Given the description of an element on the screen output the (x, y) to click on. 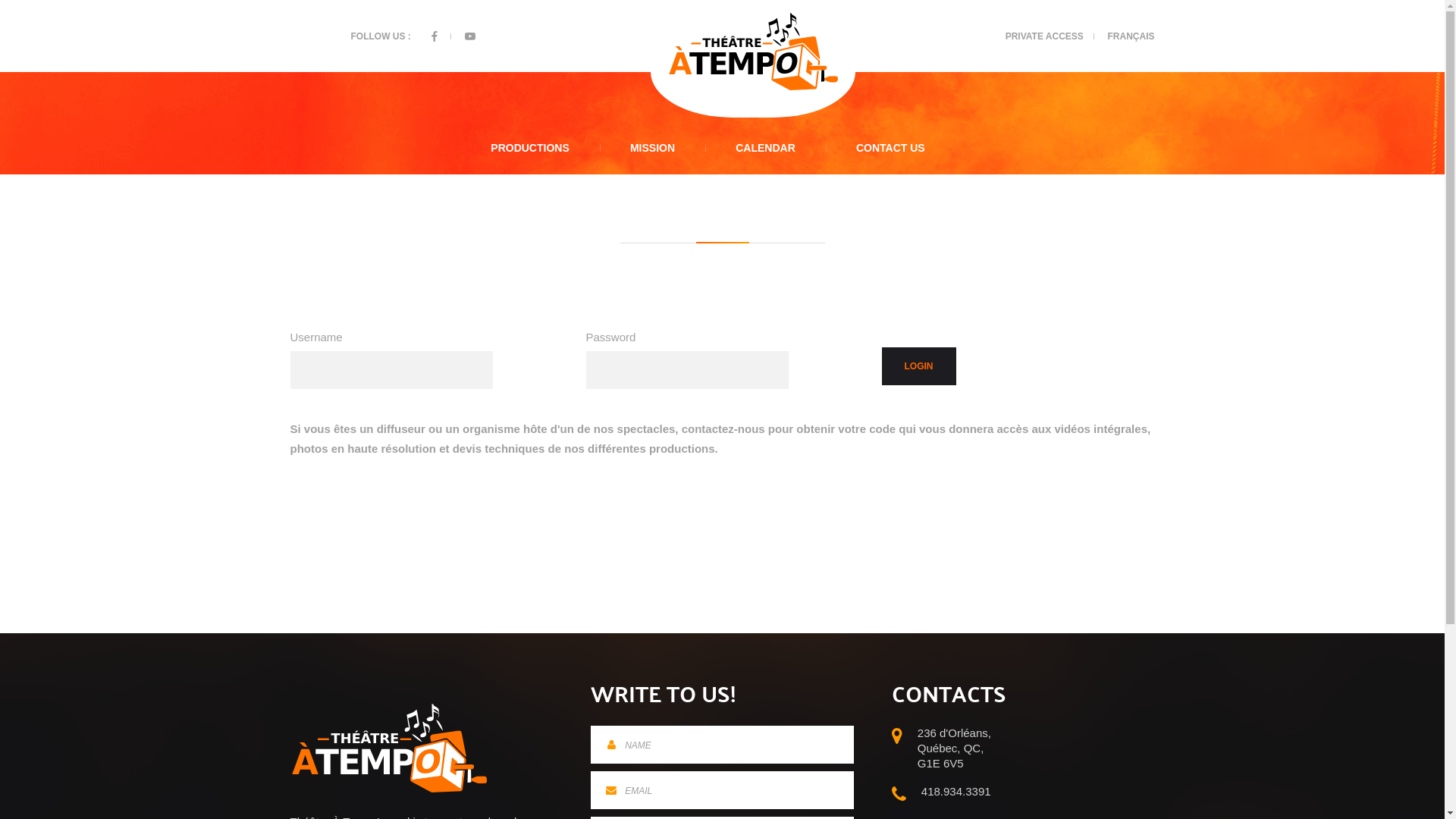
CALENDAR Element type: text (765, 147)
CONTACT US Element type: text (890, 147)
PRIVATE ACCESS Element type: text (1044, 35)
PRODUCTIONS Element type: text (529, 147)
MISSION Element type: text (652, 147)
Login Element type: text (918, 366)
